Given the description of an element on the screen output the (x, y) to click on. 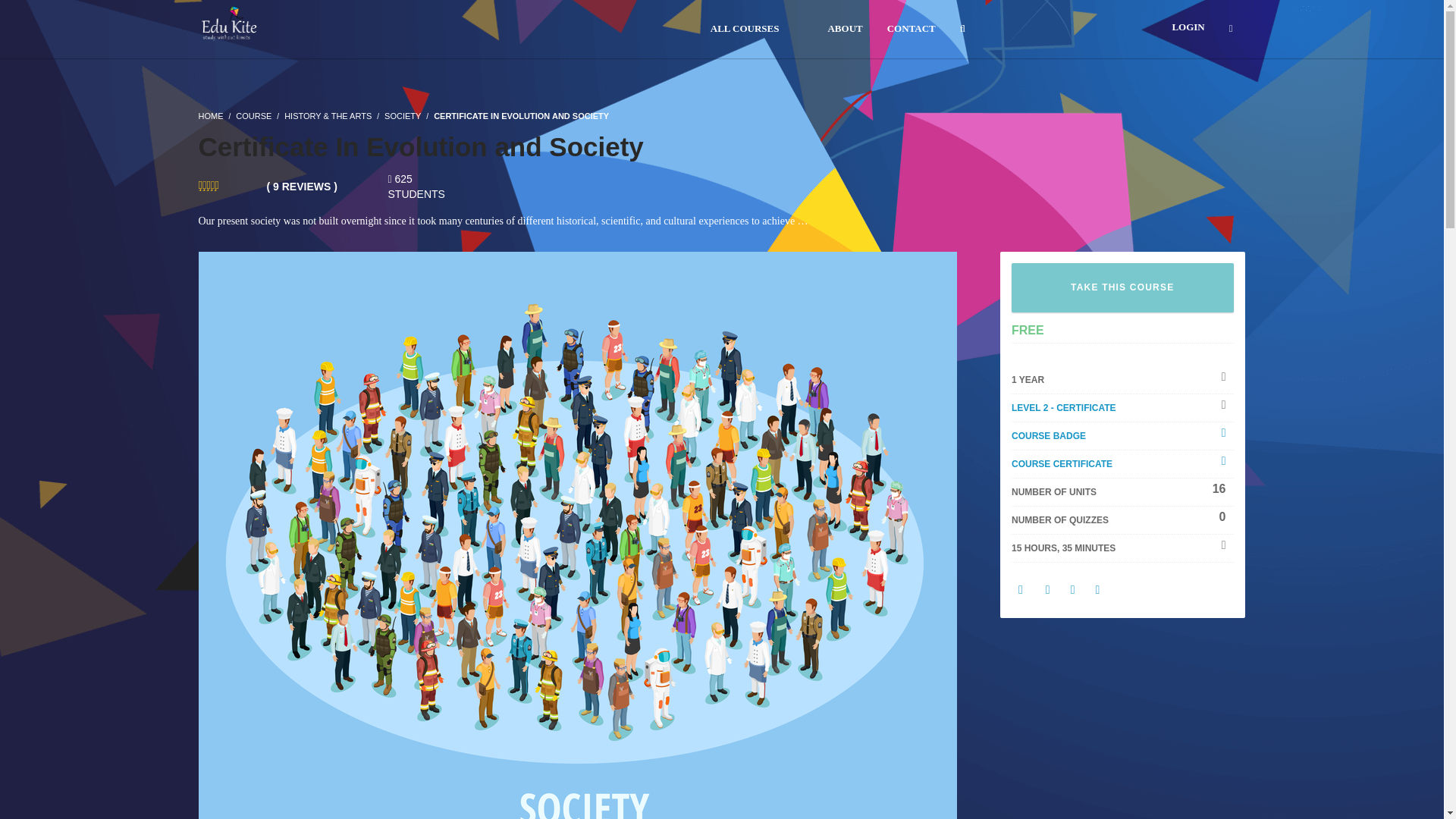
COURSE BADGE (1048, 435)
ALL COURSES (745, 29)
TAKE THIS COURSE (1122, 287)
COURSE CERTIFICATE (1061, 463)
HOME (211, 115)
Certificate In Evolution and Society (577, 553)
SOCIETY (402, 115)
CONTACT (911, 29)
COURSE (252, 115)
LEVEL 2 - CERTIFICATE (1063, 407)
